Given the description of an element on the screen output the (x, y) to click on. 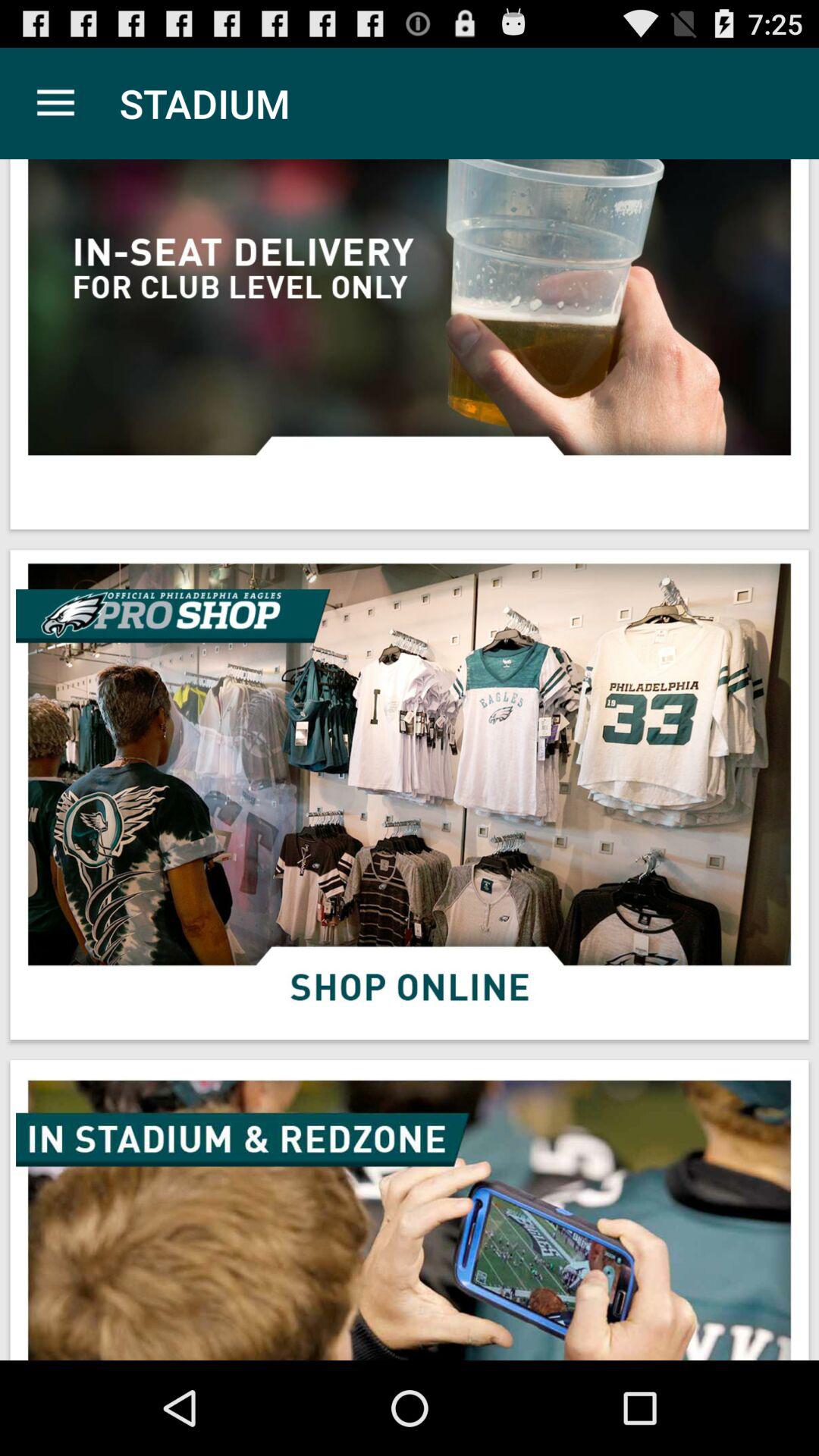
press the item next to the stadium app (55, 103)
